Given the description of an element on the screen output the (x, y) to click on. 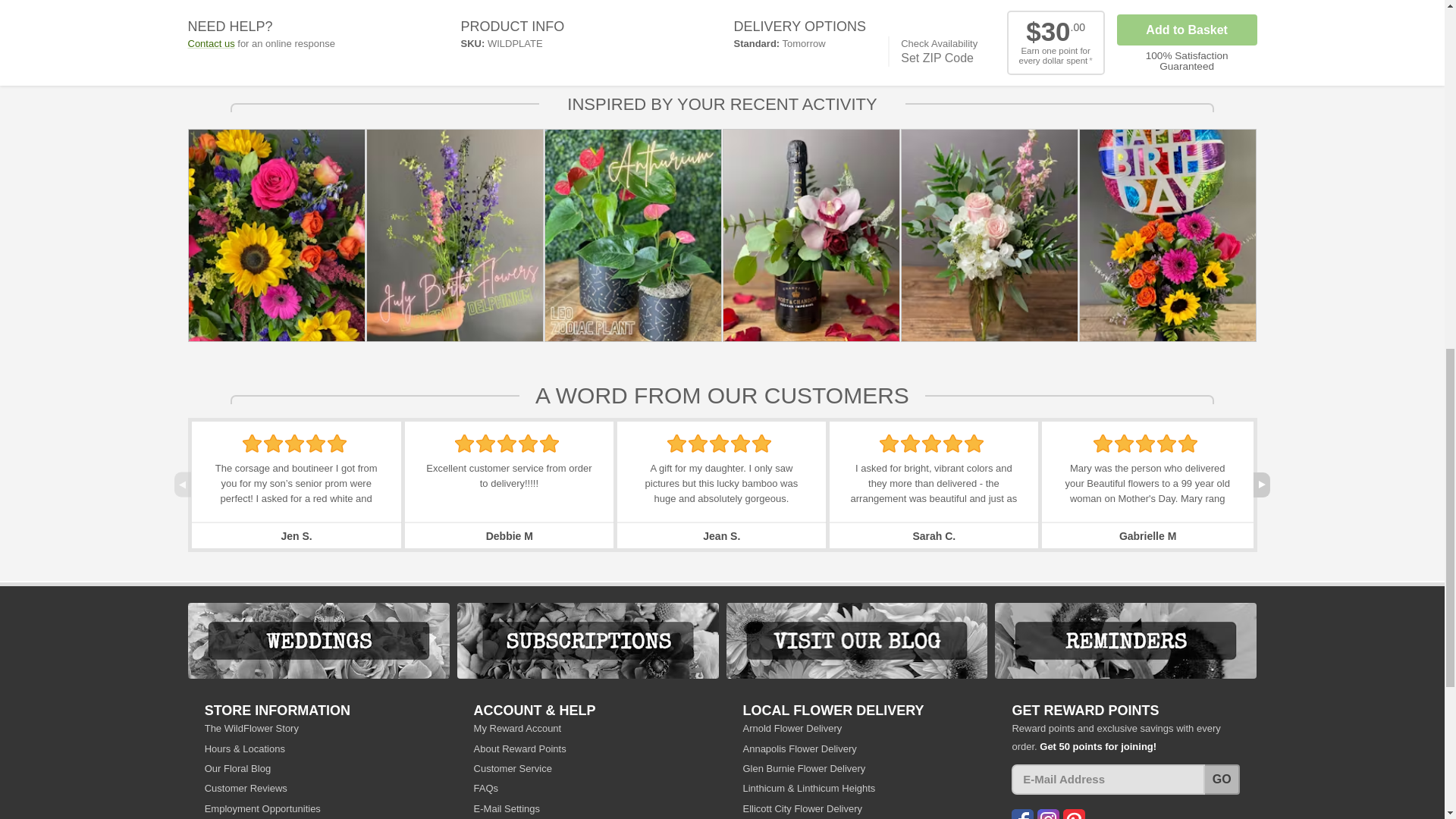
Full Star (252, 443)
Full Star (675, 443)
Full Star (506, 443)
Full Star (294, 443)
Full Star (464, 443)
Full Star (527, 443)
Full Star (549, 443)
Full Star (336, 443)
Full Star (485, 443)
Full Star (314, 443)
Full Star (272, 443)
